Given the description of an element on the screen output the (x, y) to click on. 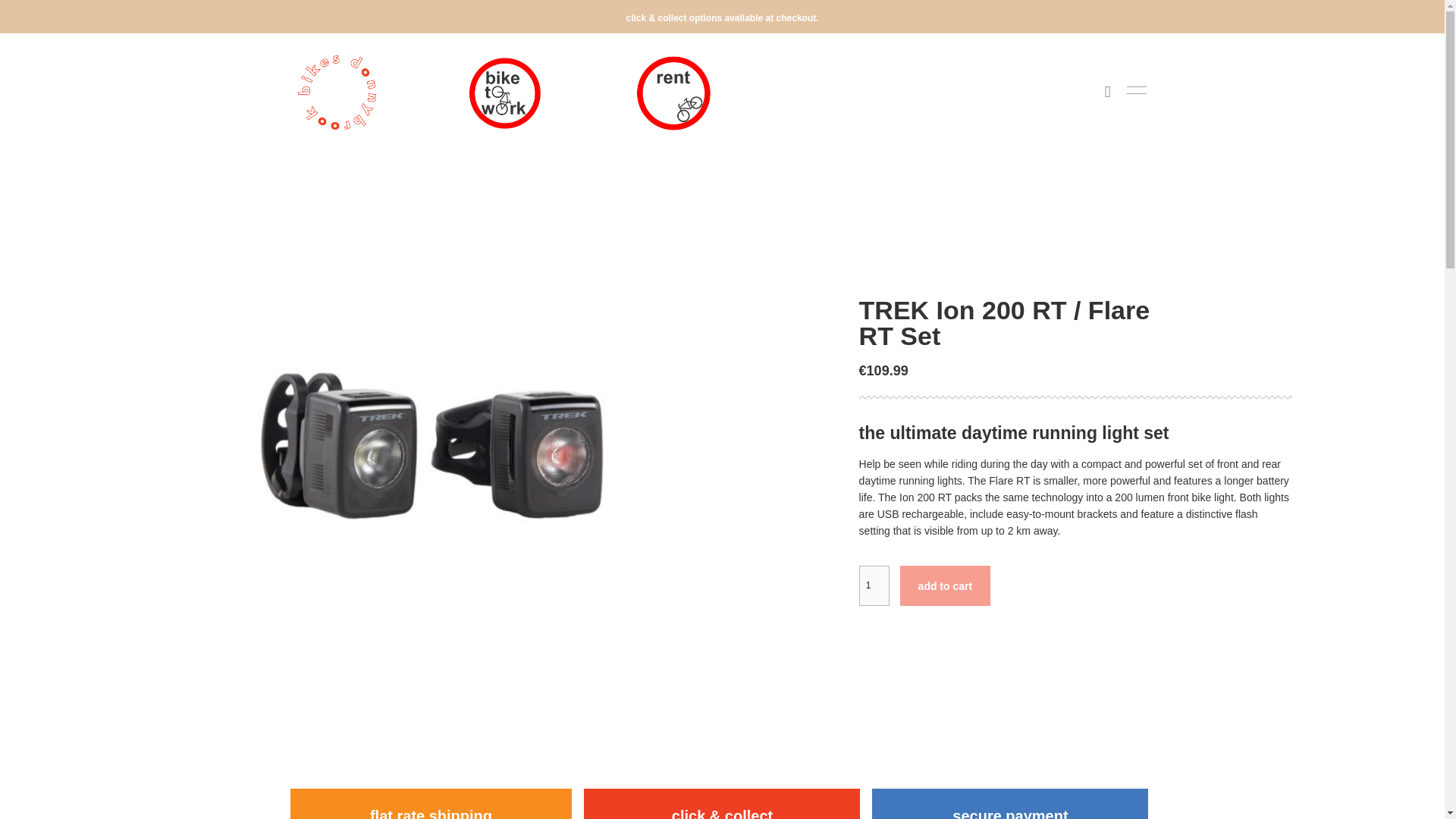
add to cart (945, 585)
